Given the description of an element on the screen output the (x, y) to click on. 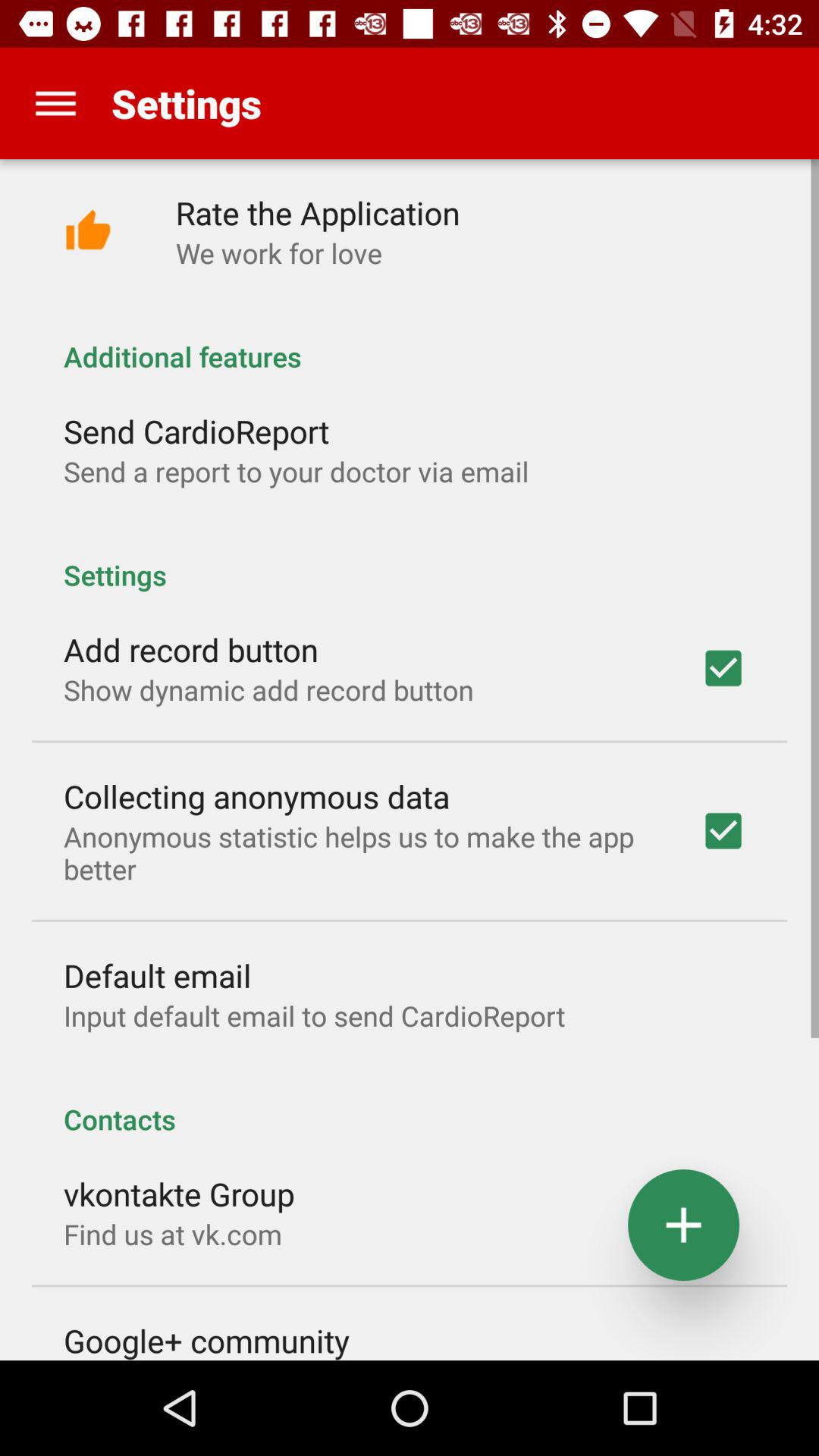
choose the app above collecting anonymous data (268, 689)
